Given the description of an element on the screen output the (x, y) to click on. 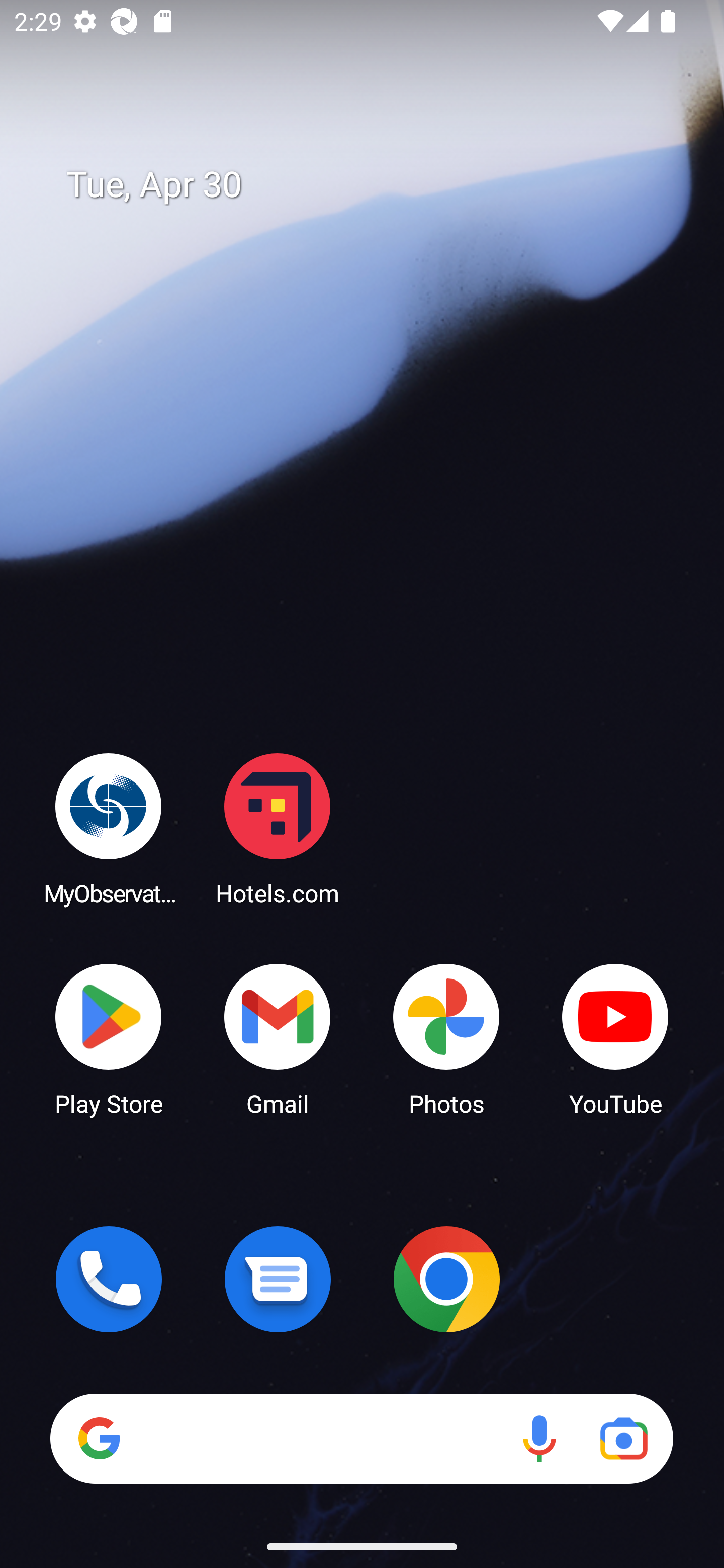
Tue, Apr 30 (375, 184)
MyObservatory (108, 828)
Hotels.com (277, 828)
Play Store (108, 1038)
Gmail (277, 1038)
Photos (445, 1038)
YouTube (615, 1038)
Phone (108, 1279)
Messages (277, 1279)
Chrome (446, 1279)
Voice search (539, 1438)
Google Lens (623, 1438)
